Given the description of an element on the screen output the (x, y) to click on. 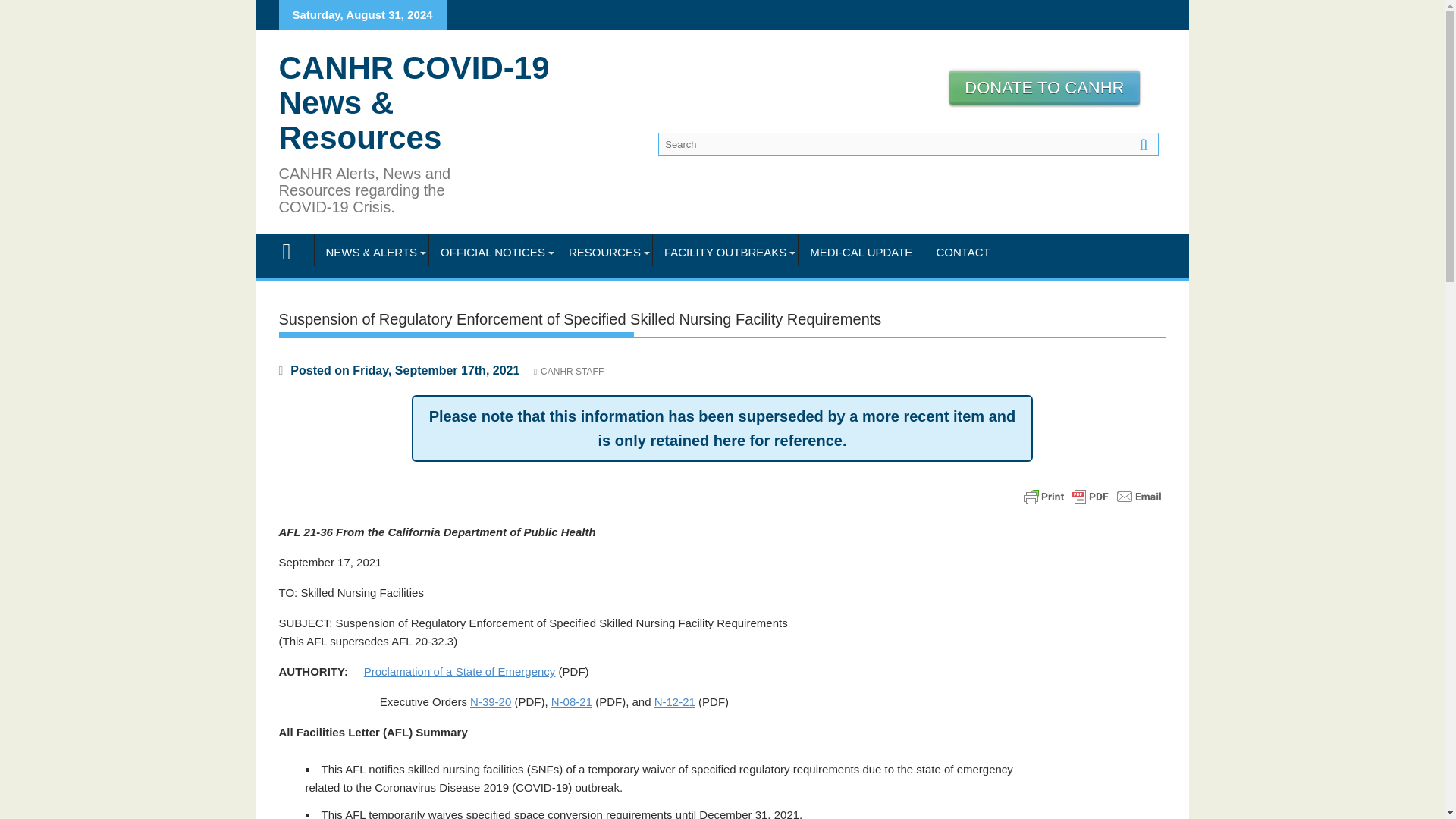
OFFICIAL NOTICES (492, 252)
FACILITY OUTBREAKS (724, 252)
DONATE TO CANHR (1043, 87)
RESOURCES (604, 252)
